Given the description of an element on the screen output the (x, y) to click on. 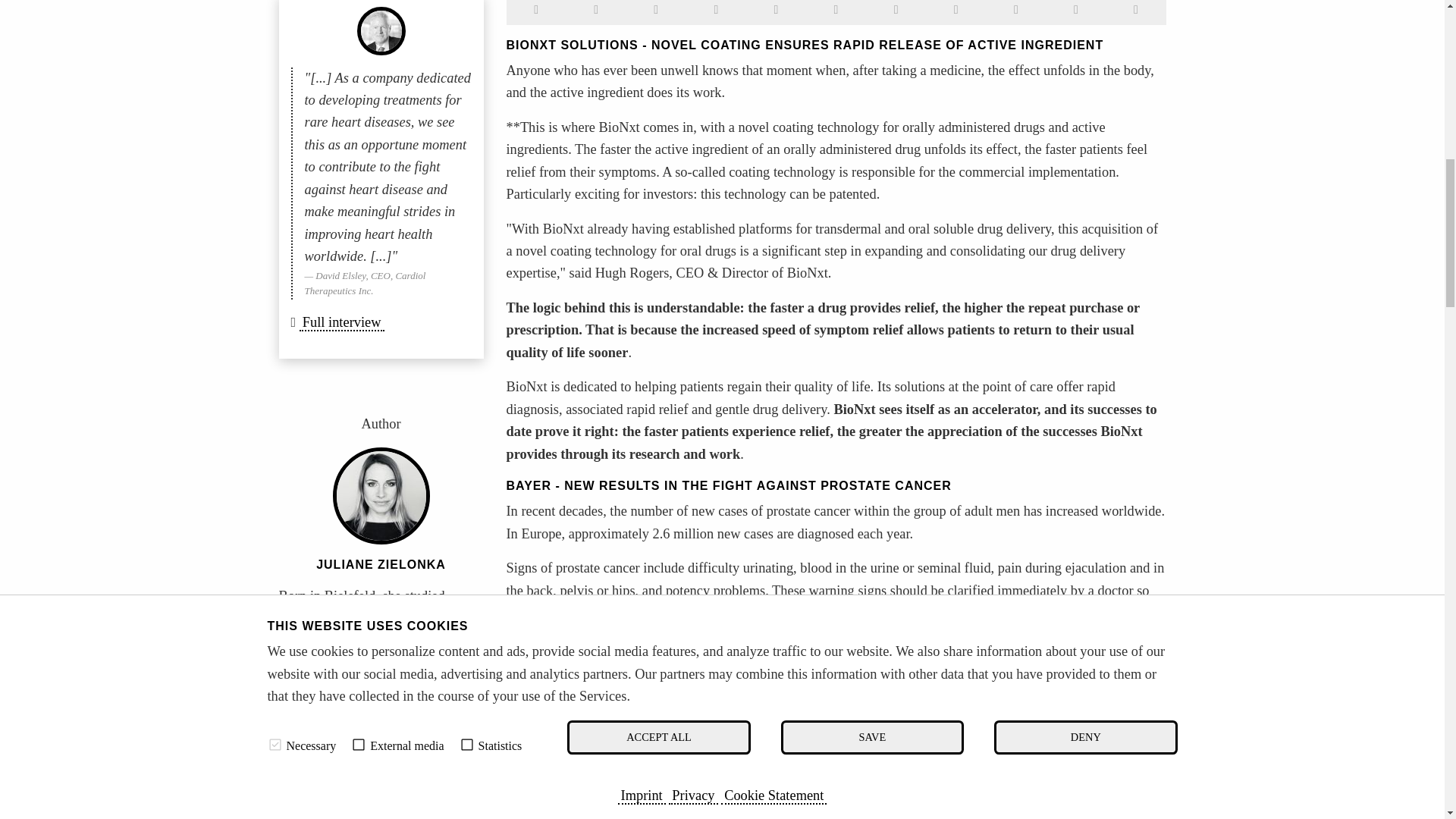
Juliane Zielonka (380, 563)
JULIANE ZIELONKA (380, 563)
Full interview (341, 322)
David Elsley, CEO, Cardiol Therapeutics Inc. (380, 30)
Juliane Zielonka (380, 495)
